Given the description of an element on the screen output the (x, y) to click on. 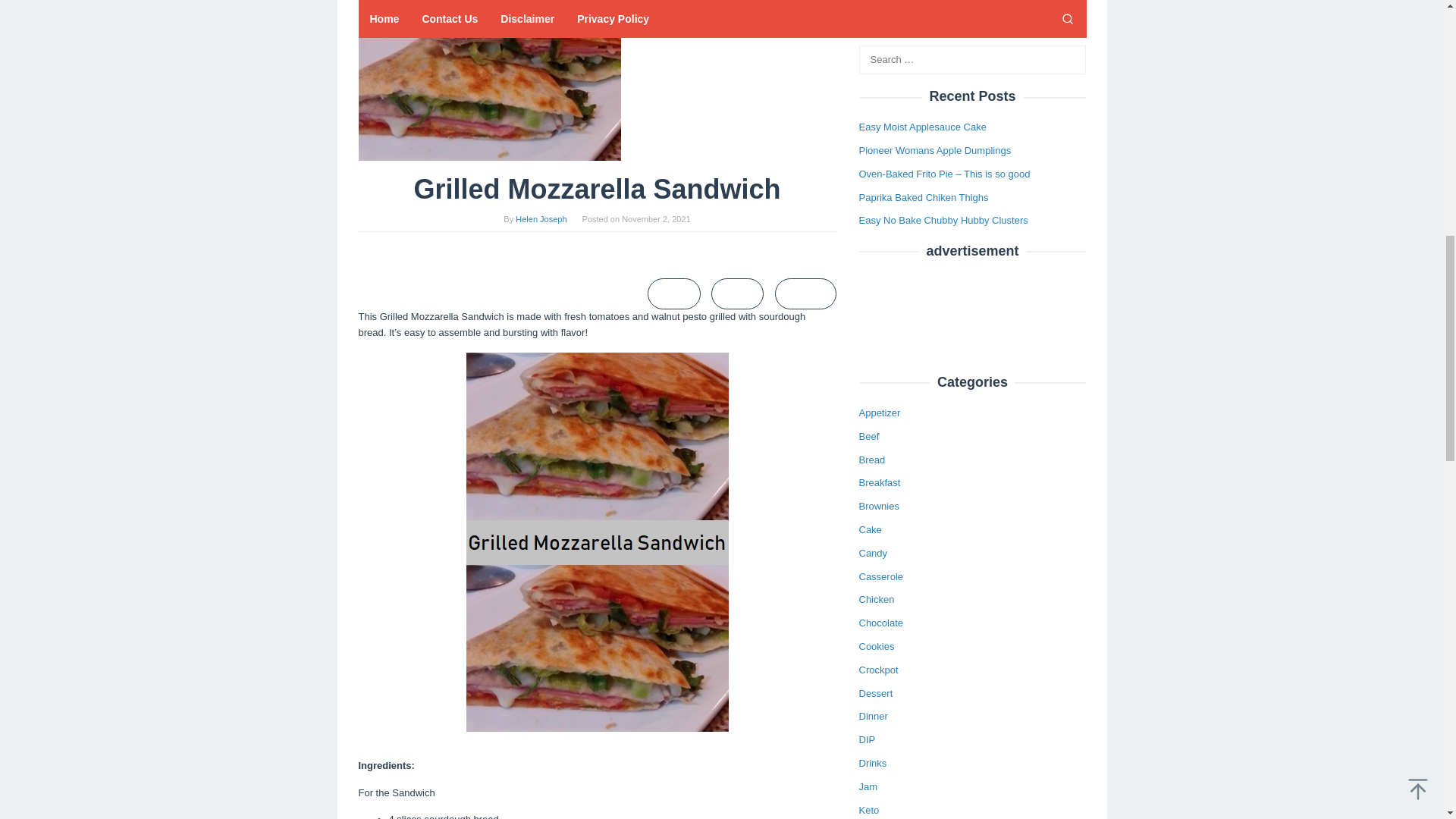
Grilled Mozzarella Sandwich (489, 80)
Helen Joseph (540, 218)
Permalink to: Helen Joseph (540, 218)
